Given the description of an element on the screen output the (x, y) to click on. 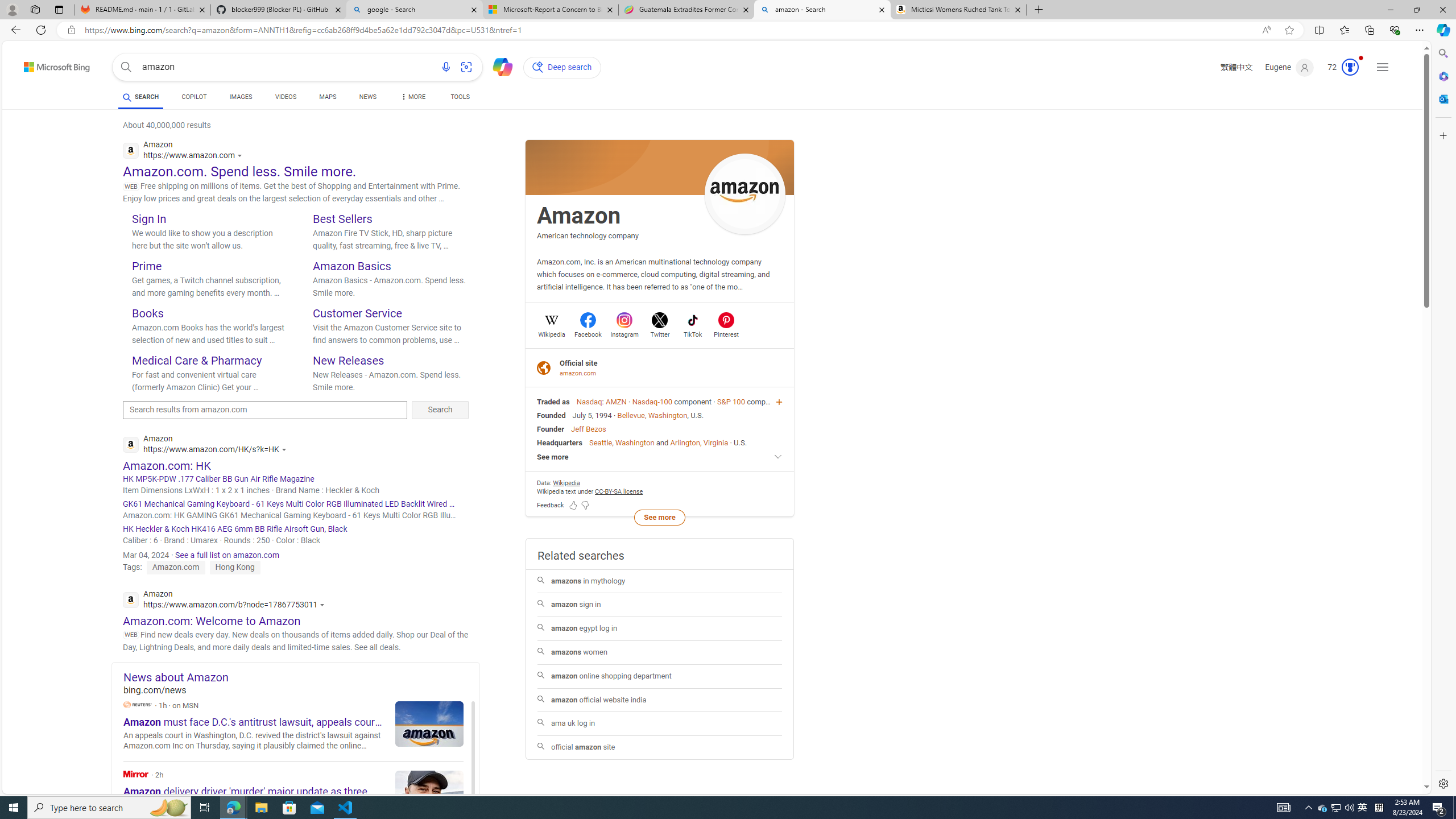
Arlington, Virginia (698, 442)
New Releases (348, 359)
Search using voice (445, 66)
Dropdown Menu (412, 96)
SEARCH (140, 96)
NEWS (367, 96)
Microsoft Rewards 72 (1339, 67)
amazons in mythology (659, 580)
Amazon.com: Welcome to Amazon (211, 620)
